Given the description of an element on the screen output the (x, y) to click on. 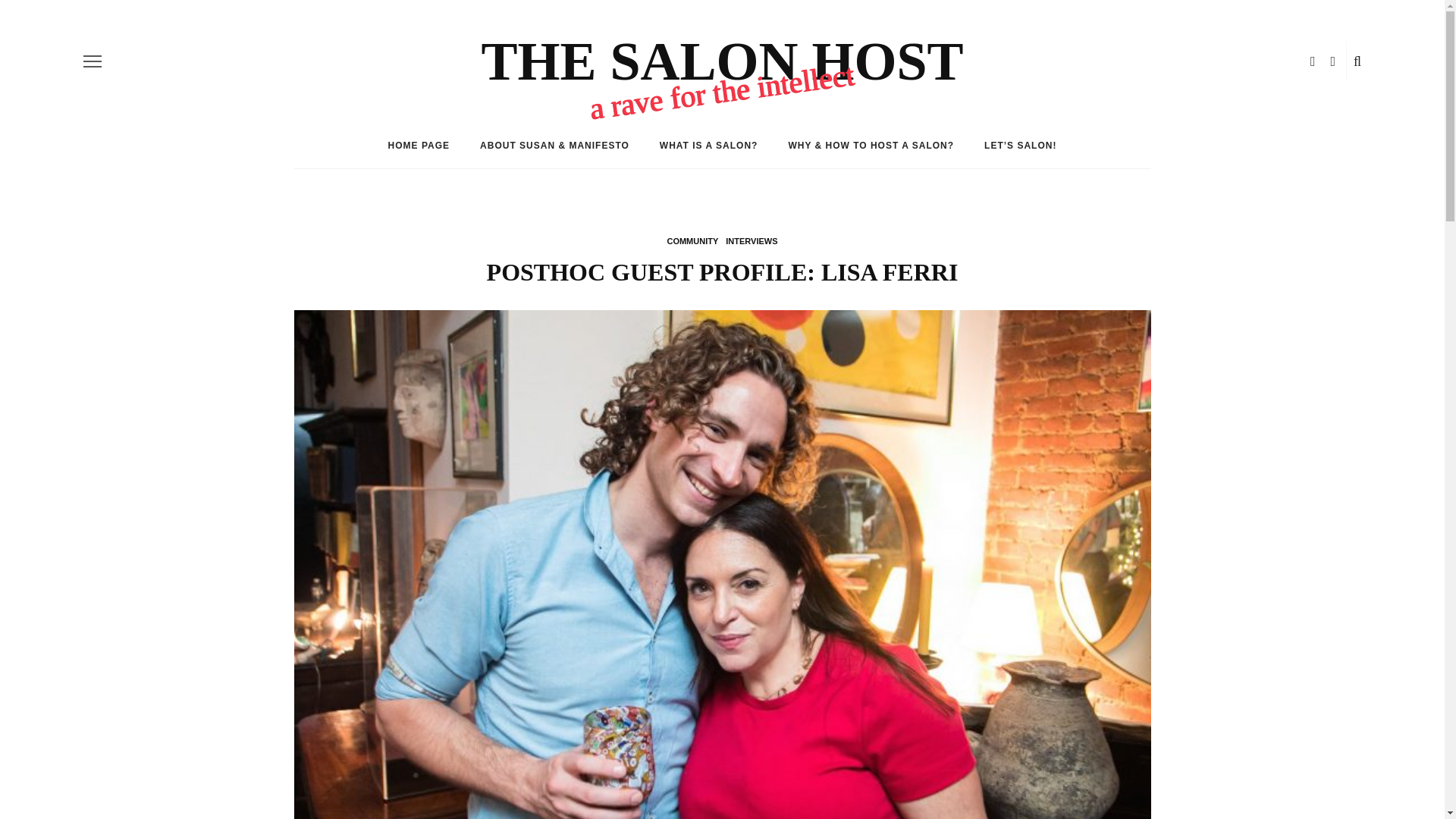
THE SALON HOST (721, 61)
HOME PAGE (418, 145)
Posthoc Guest Profile: Lisa Ferri (722, 595)
off canvas button (91, 61)
WHAT IS A SALON? (709, 145)
COMMUNITY (691, 240)
INTERVIEWS (751, 240)
